Given the description of an element on the screen output the (x, y) to click on. 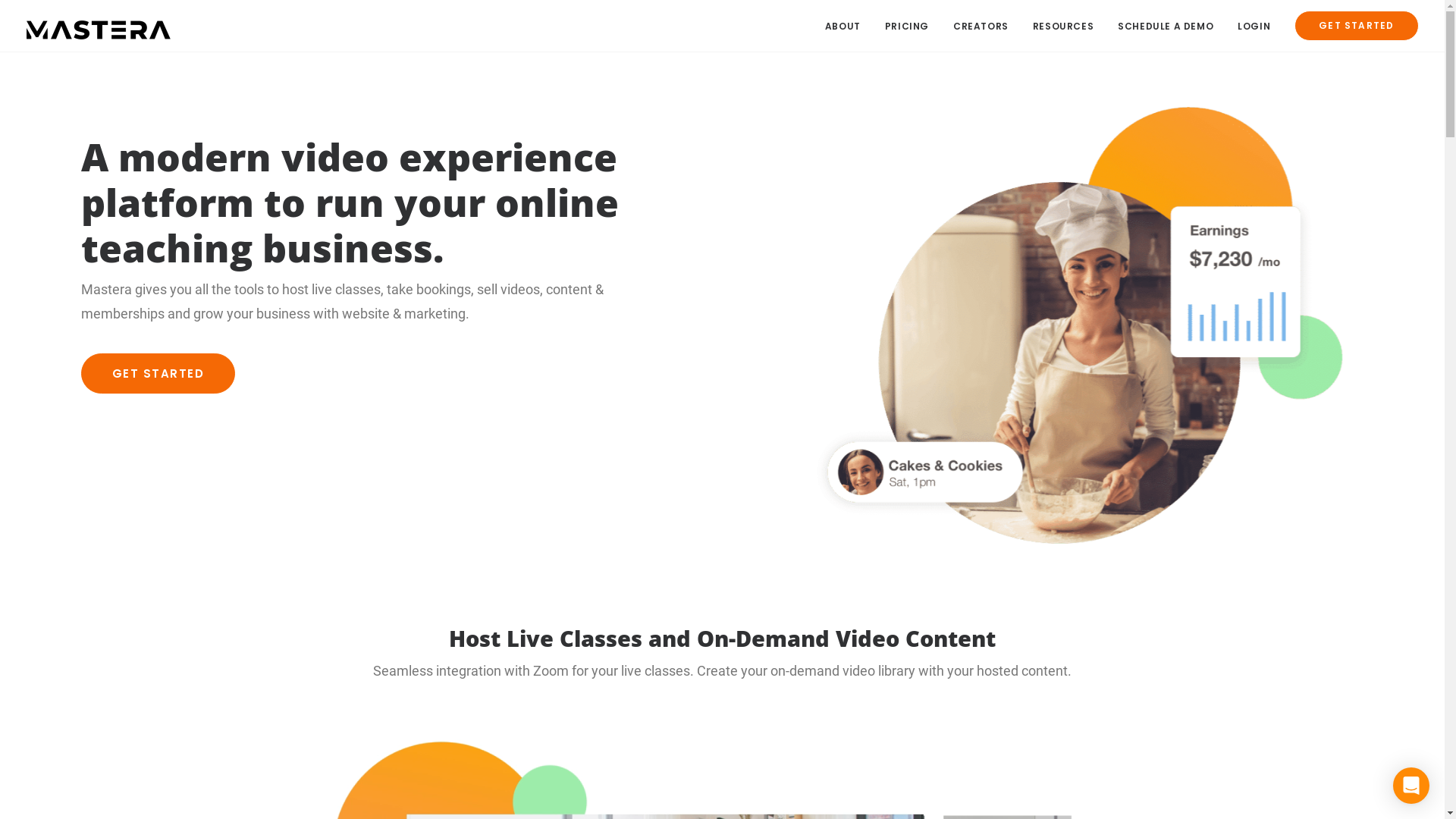
RESOURCES Element type: text (1063, 25)
PRICING Element type: text (906, 25)
GET STARTED Element type: text (157, 373)
CREATORS Element type: text (980, 25)
ABOUT Element type: text (848, 25)
LOGIN Element type: text (1253, 25)
GET STARTED Element type: text (1350, 25)
SCHEDULE A DEMO Element type: text (1165, 25)
